Given the description of an element on the screen output the (x, y) to click on. 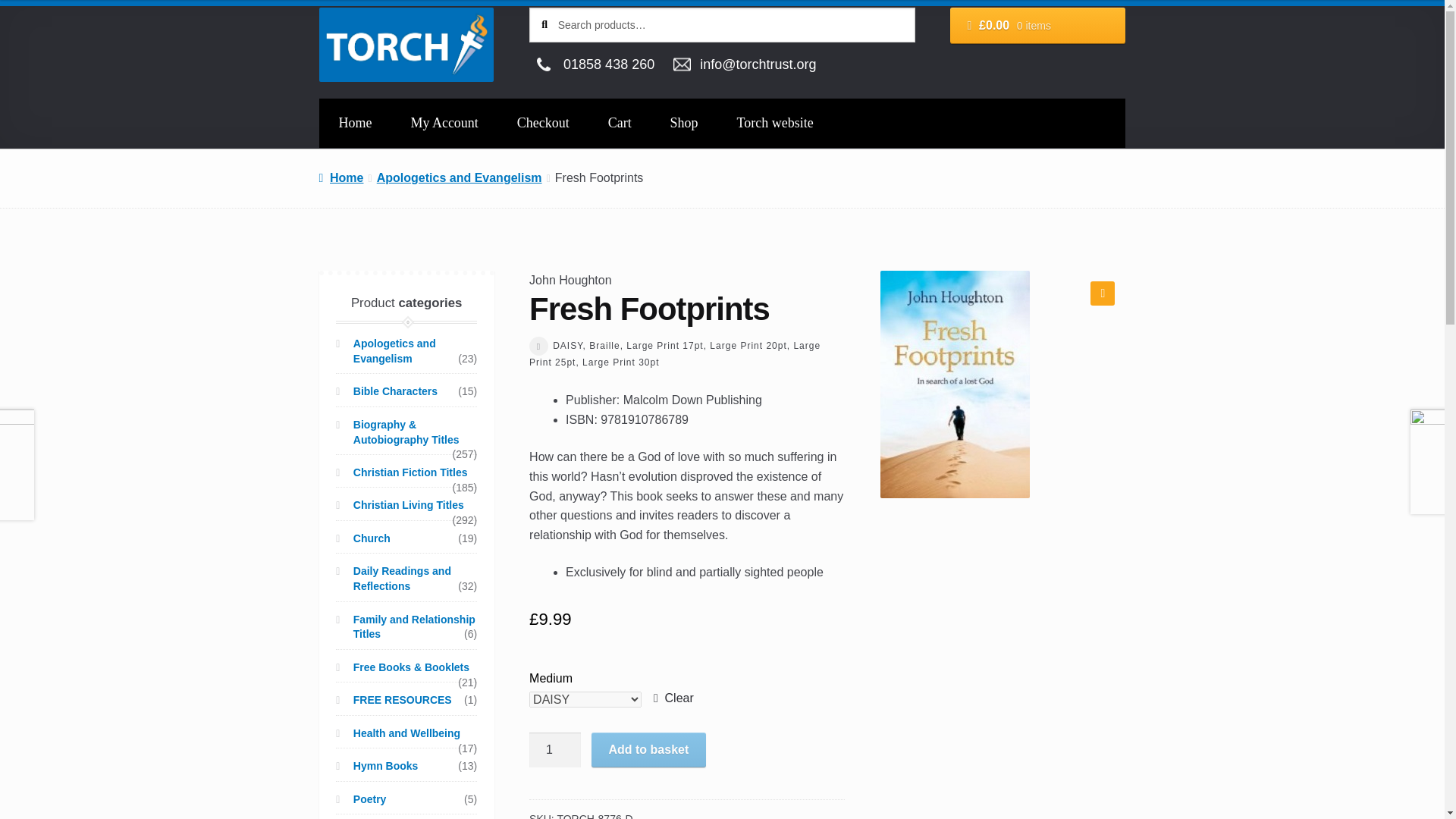
Add to basket (648, 749)
Home (341, 177)
Clear (673, 698)
Home (354, 123)
My Account (444, 123)
Cart (619, 123)
Checkout (543, 123)
Torch website (774, 123)
Apologetics and Evangelism (595, 64)
1 (459, 177)
Shop (554, 749)
View your shopping basket (683, 123)
